Given the description of an element on the screen output the (x, y) to click on. 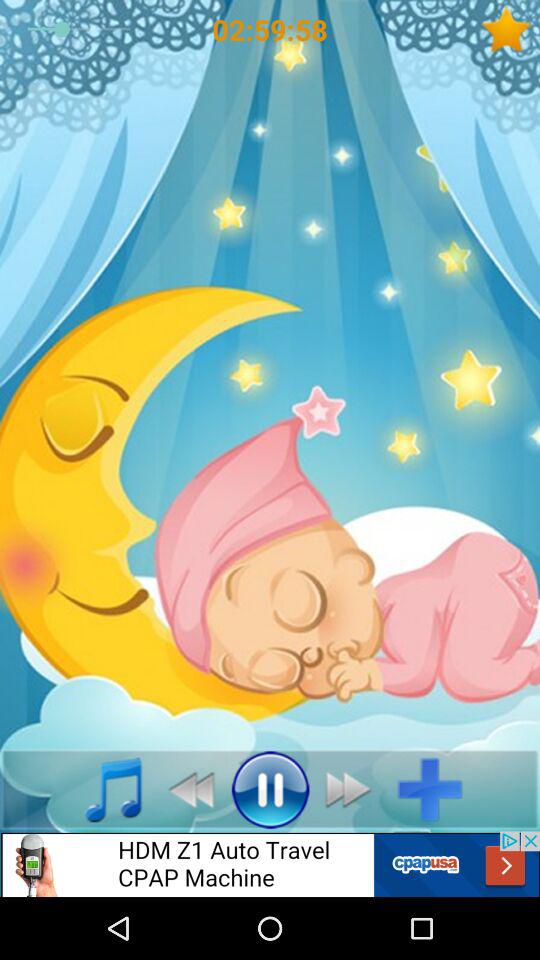
add option (438, 789)
